Given the description of an element on the screen output the (x, y) to click on. 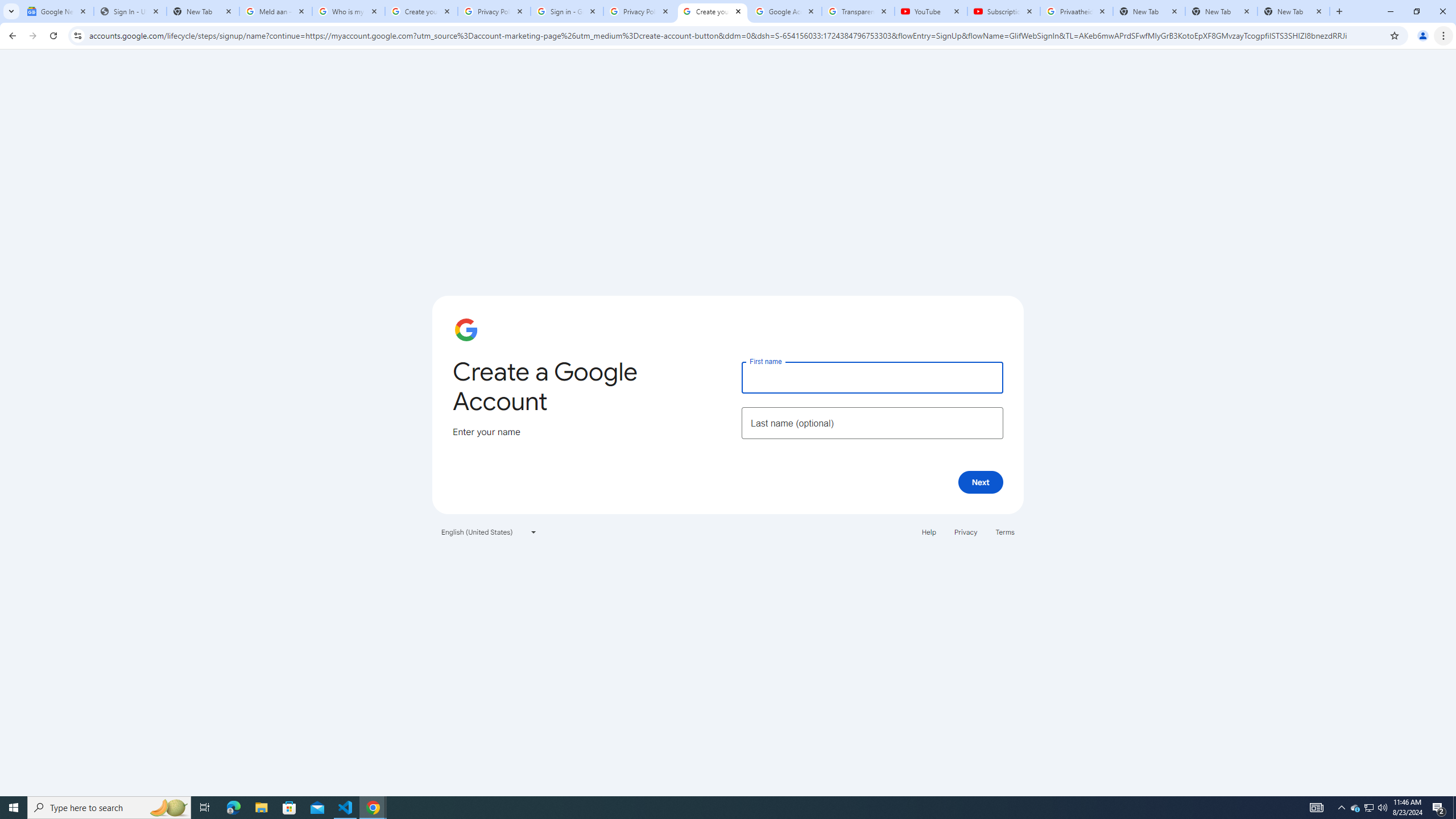
Terms (1005, 531)
Last name (optional) (871, 422)
Chrome (1445, 35)
Reload (52, 35)
You (1422, 35)
System (6, 6)
Next (980, 481)
Create your Google Account (421, 11)
View site information (77, 35)
Create your Google Account (712, 11)
